Given the description of an element on the screen output the (x, y) to click on. 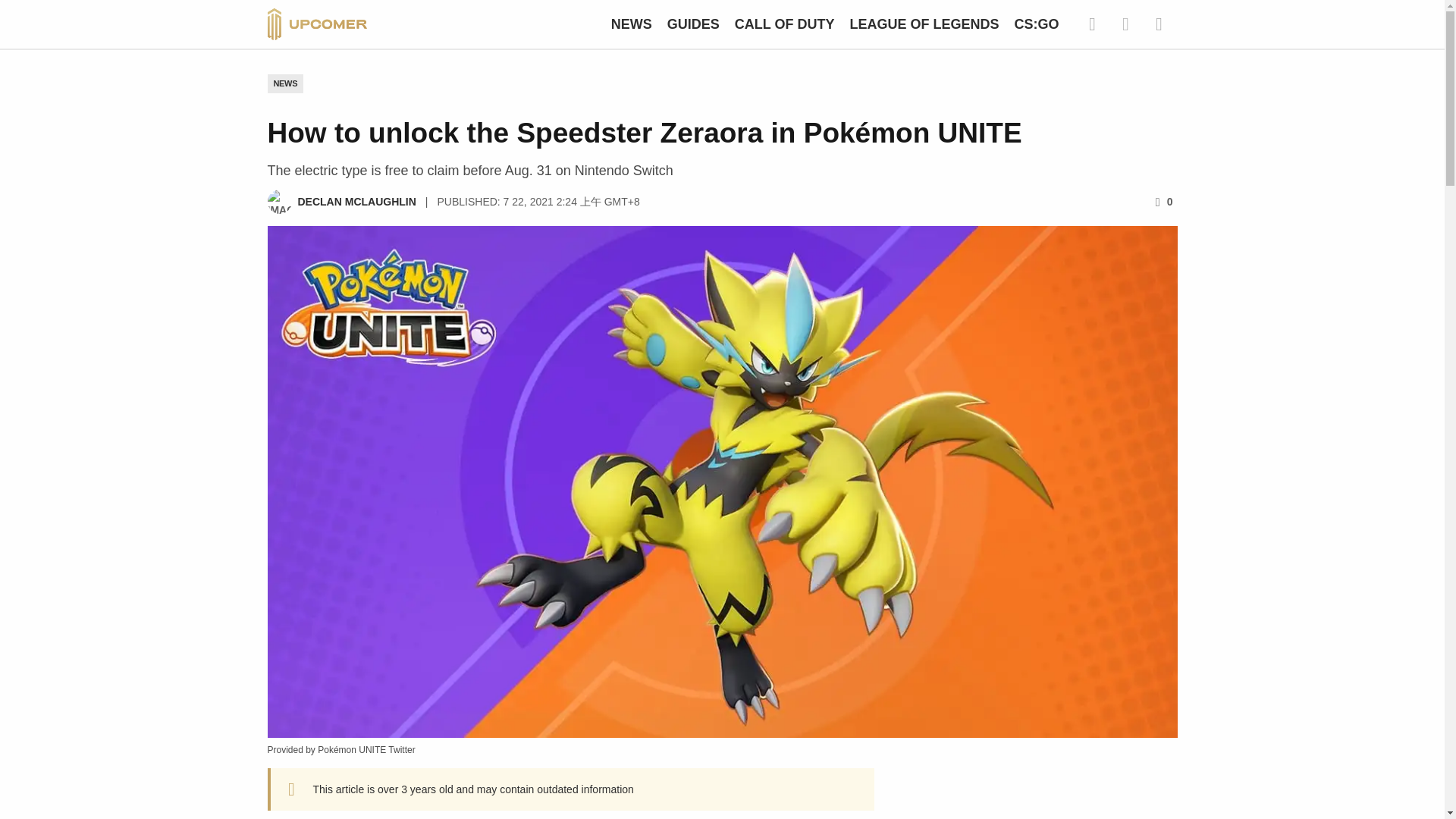
Expand Menu (1157, 24)
CALL OF DUTY (784, 23)
Search (1091, 24)
LEAGUE OF LEGENDS (923, 23)
GUIDES (692, 23)
Dark Mode (1124, 24)
NEWS (631, 23)
CS:GO (1035, 23)
